Given the description of an element on the screen output the (x, y) to click on. 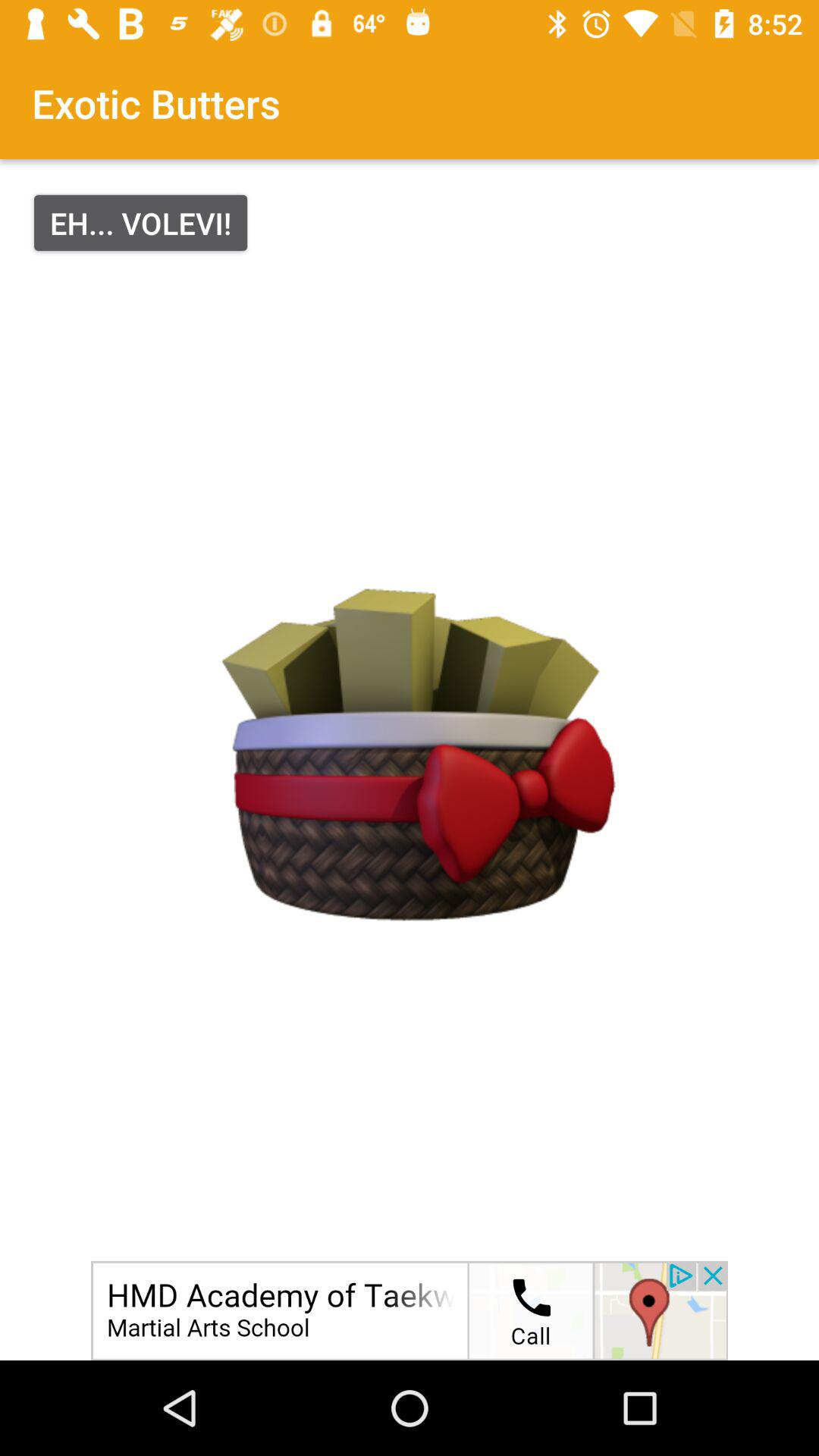
open advertisement (409, 1310)
